Given the description of an element on the screen output the (x, y) to click on. 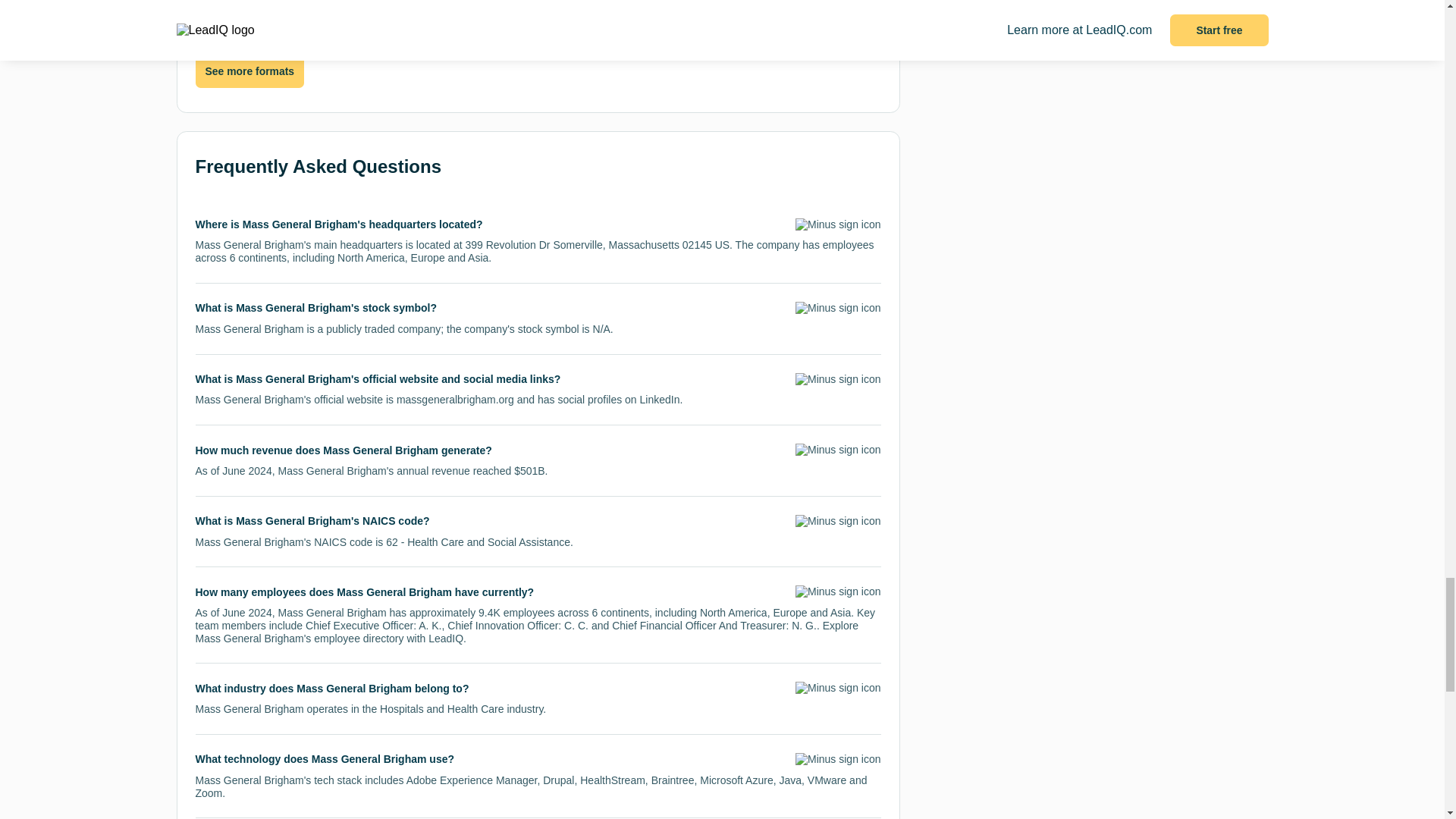
LinkedIn (659, 399)
Mass General Brigham's employee directory (299, 638)
See more formats (249, 70)
massgeneralbrigham.org (454, 399)
See more formats (249, 71)
